Given the description of an element on the screen output the (x, y) to click on. 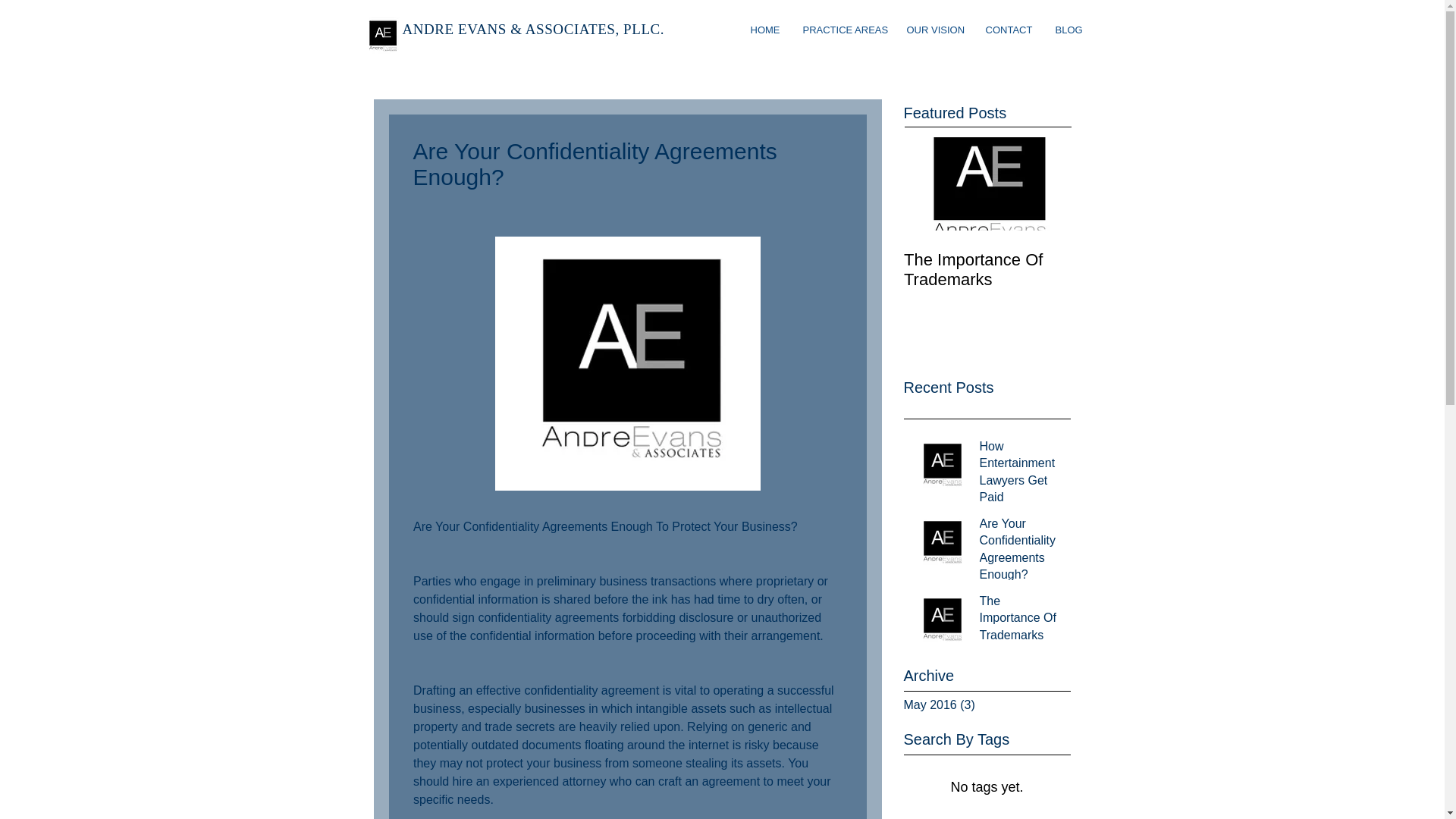
The Importance Of Trademarks (987, 244)
How Entertainment Lawyers Get Paid (1020, 475)
The Importance Of Trademarks (1020, 621)
OUR VISION (934, 29)
HOME (764, 29)
The Importance Of Trademarks (987, 269)
Are Your Confidentiality Agreements Enough? (1020, 552)
BLOG (1068, 29)
The Importance Of Trademarks (987, 244)
CONTACT (1008, 29)
PRACTICE AREAS (843, 29)
